Given the description of an element on the screen output the (x, y) to click on. 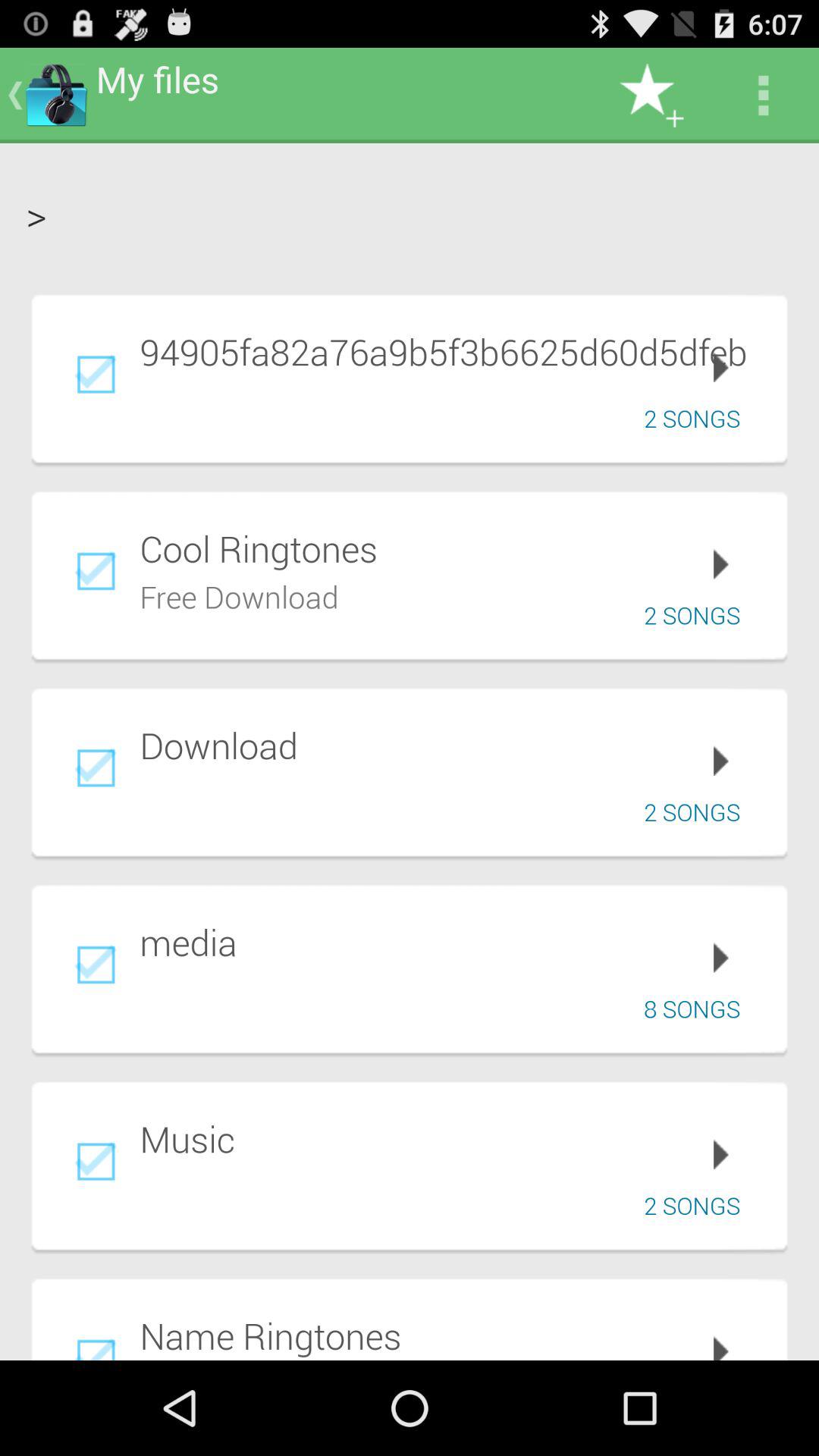
choose icon below the 8 songs app (452, 1138)
